Given the description of an element on the screen output the (x, y) to click on. 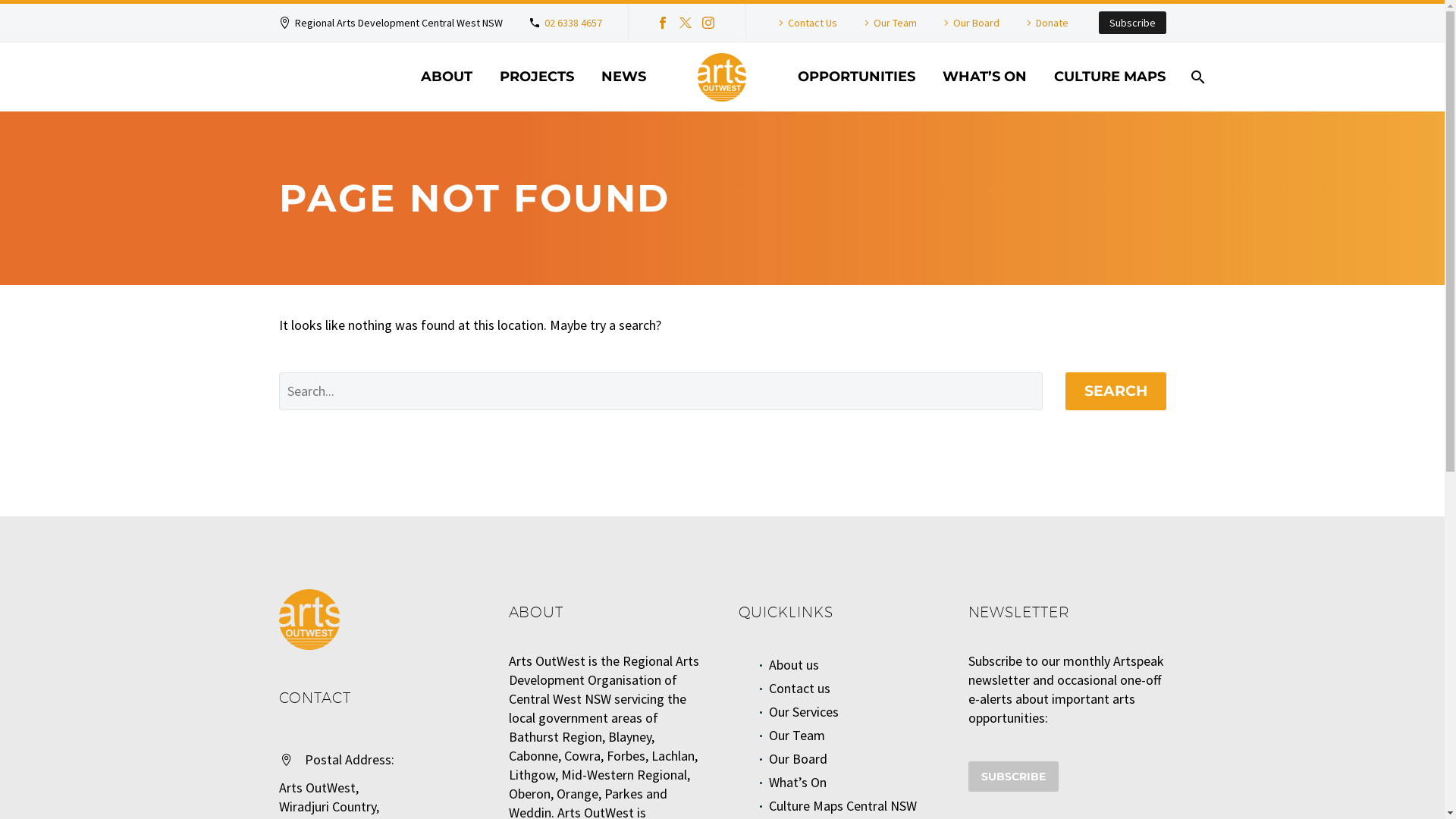
Our Team Element type: text (796, 734)
Our Board  Element type: text (799, 758)
Donate Element type: text (1045, 22)
SEARCH Element type: text (1114, 391)
Facebook Element type: hover (662, 22)
OPPORTUNITIES Element type: text (856, 76)
NEWS Element type: text (623, 76)
Twitter Element type: hover (685, 22)
Contact us Element type: text (799, 687)
Contact Us Element type: text (804, 22)
Culture Maps Central NSW Element type: text (842, 805)
CULTURE MAPS Element type: text (1109, 76)
Our Board Element type: text (968, 22)
SUBSCRIBE Element type: text (1012, 776)
Our Services Element type: text (803, 711)
Instagram Element type: hover (707, 22)
PROJECTS Element type: text (536, 76)
02 6338 4657 Element type: text (573, 22)
About us Element type: text (793, 664)
Our Team Element type: text (887, 22)
ABOUT Element type: text (446, 76)
Subscribe Element type: text (1131, 22)
